Given the description of an element on the screen output the (x, y) to click on. 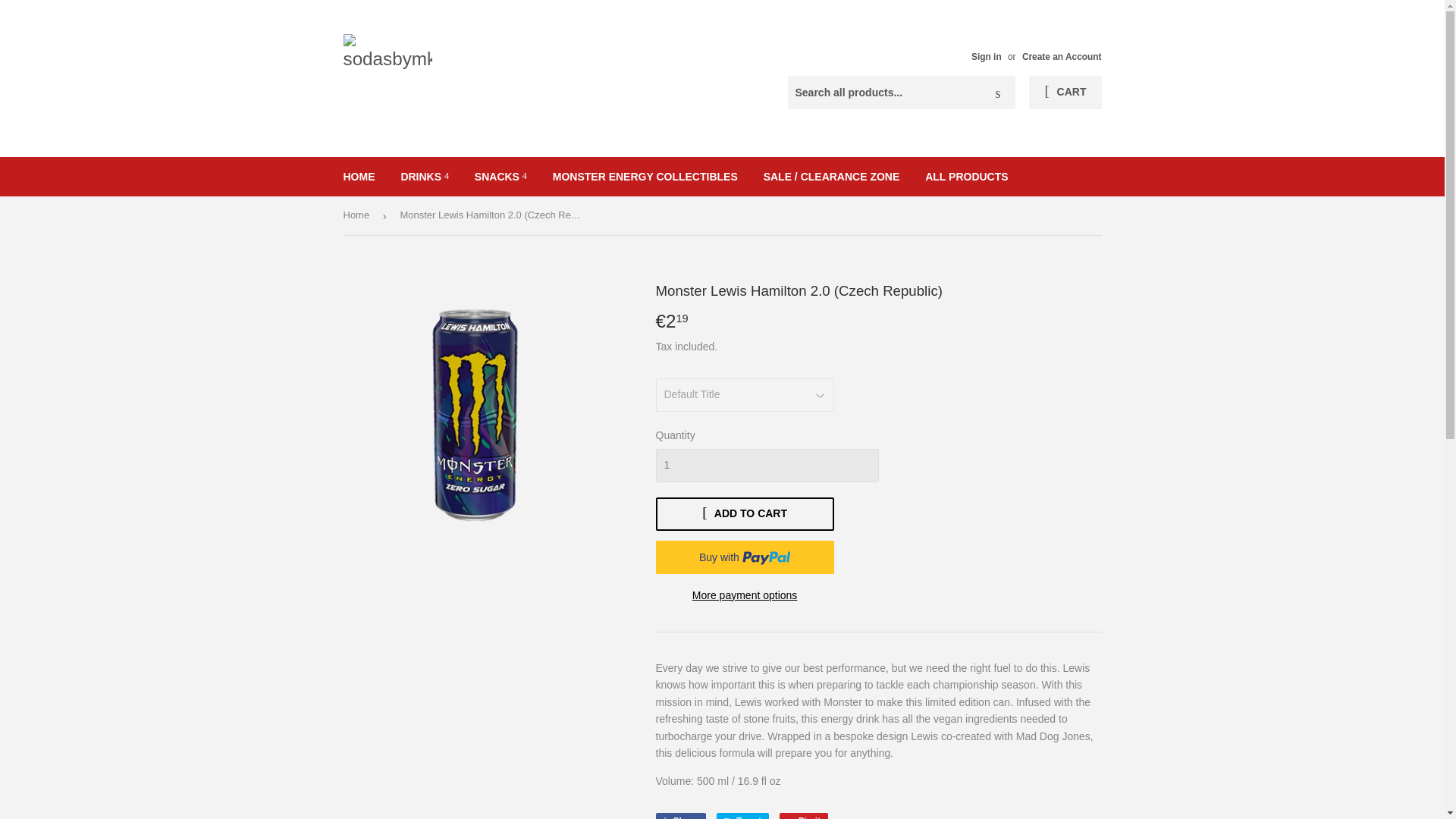
HOME (359, 176)
CART (1064, 92)
Pin on Pinterest (803, 816)
Search (997, 92)
Share on Facebook (679, 816)
Create an Account (1062, 56)
1 (766, 465)
Tweet on Twitter (742, 816)
Sign in (986, 56)
